Given the description of an element on the screen output the (x, y) to click on. 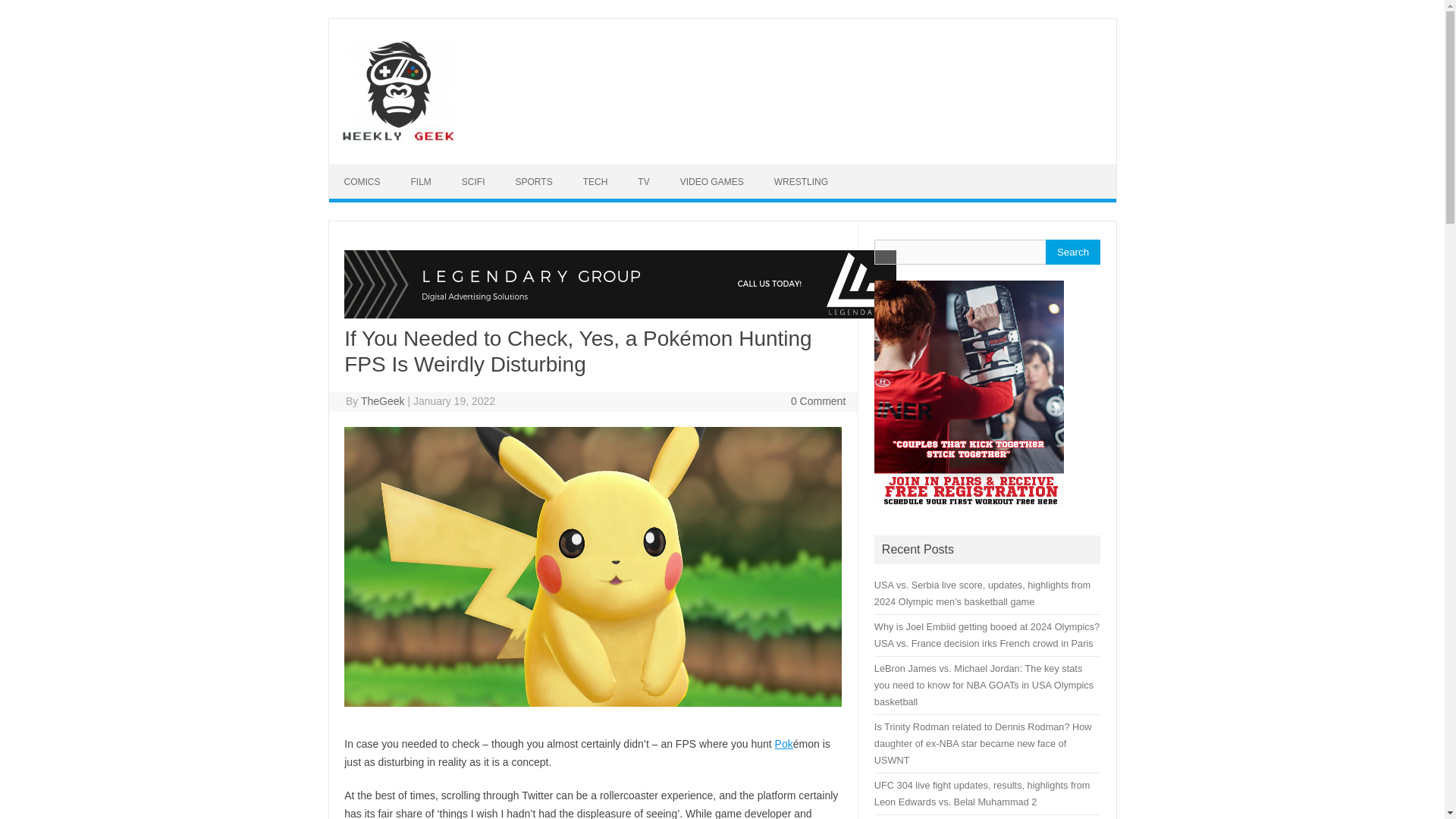
Weekly Geek (397, 138)
Search (1072, 251)
FILM (421, 182)
Pok (783, 743)
Search (1072, 251)
TheGeek (382, 400)
WRESTLING (800, 182)
COMICS (362, 182)
Posts by TheGeek (382, 400)
SPORTS (533, 182)
TECH (595, 182)
VIDEO GAMES (711, 182)
